Given the description of an element on the screen output the (x, y) to click on. 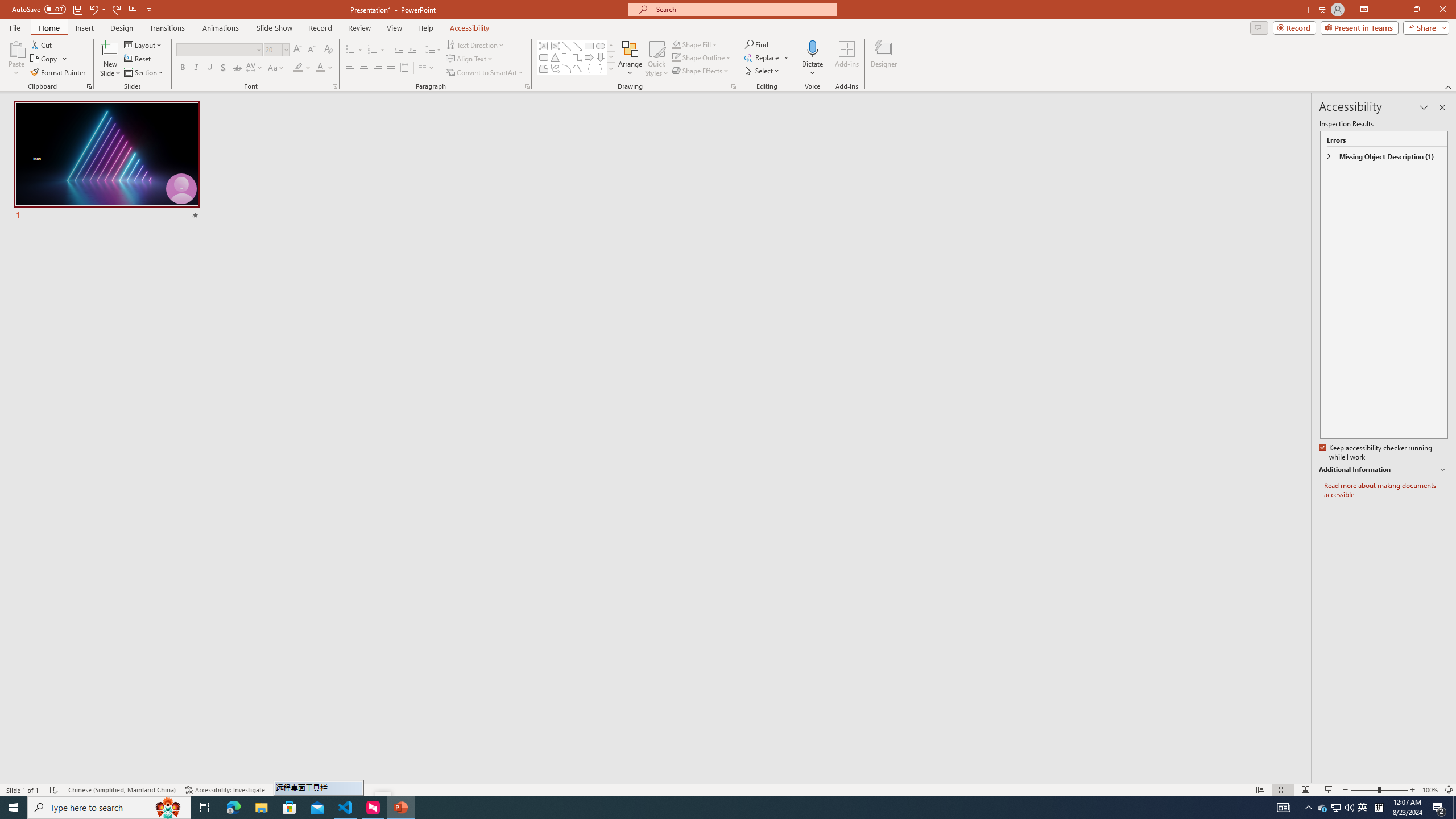
AutomationID: ShapesInsertGallery (576, 57)
Decrease Indent (398, 49)
Font Color Red (320, 67)
Shape Effects (700, 69)
Format Object... (733, 85)
